Given the description of an element on the screen output the (x, y) to click on. 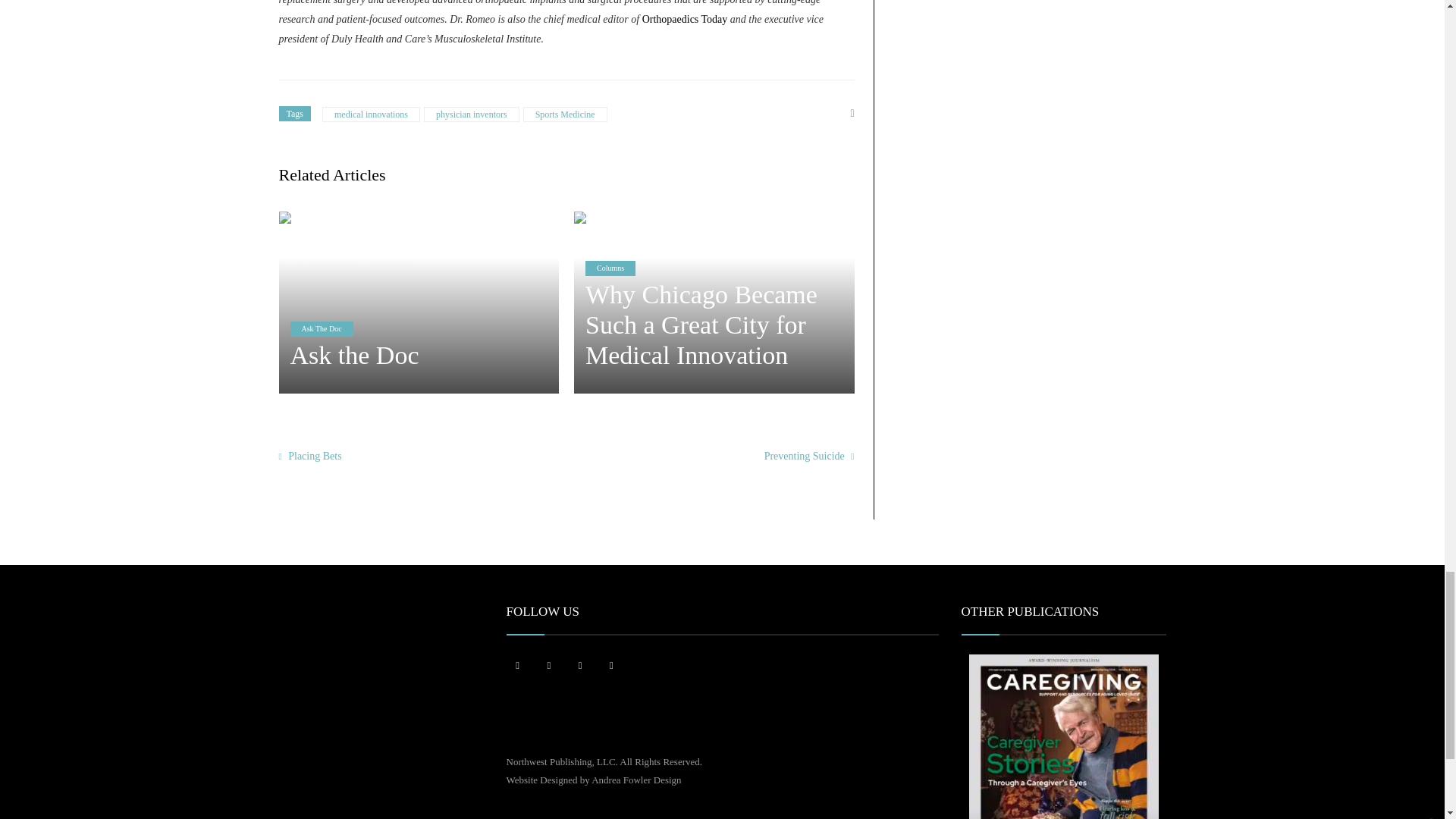
physician inventors (471, 114)
Sports Medicine (564, 114)
medical innovations (370, 114)
